Given the description of an element on the screen output the (x, y) to click on. 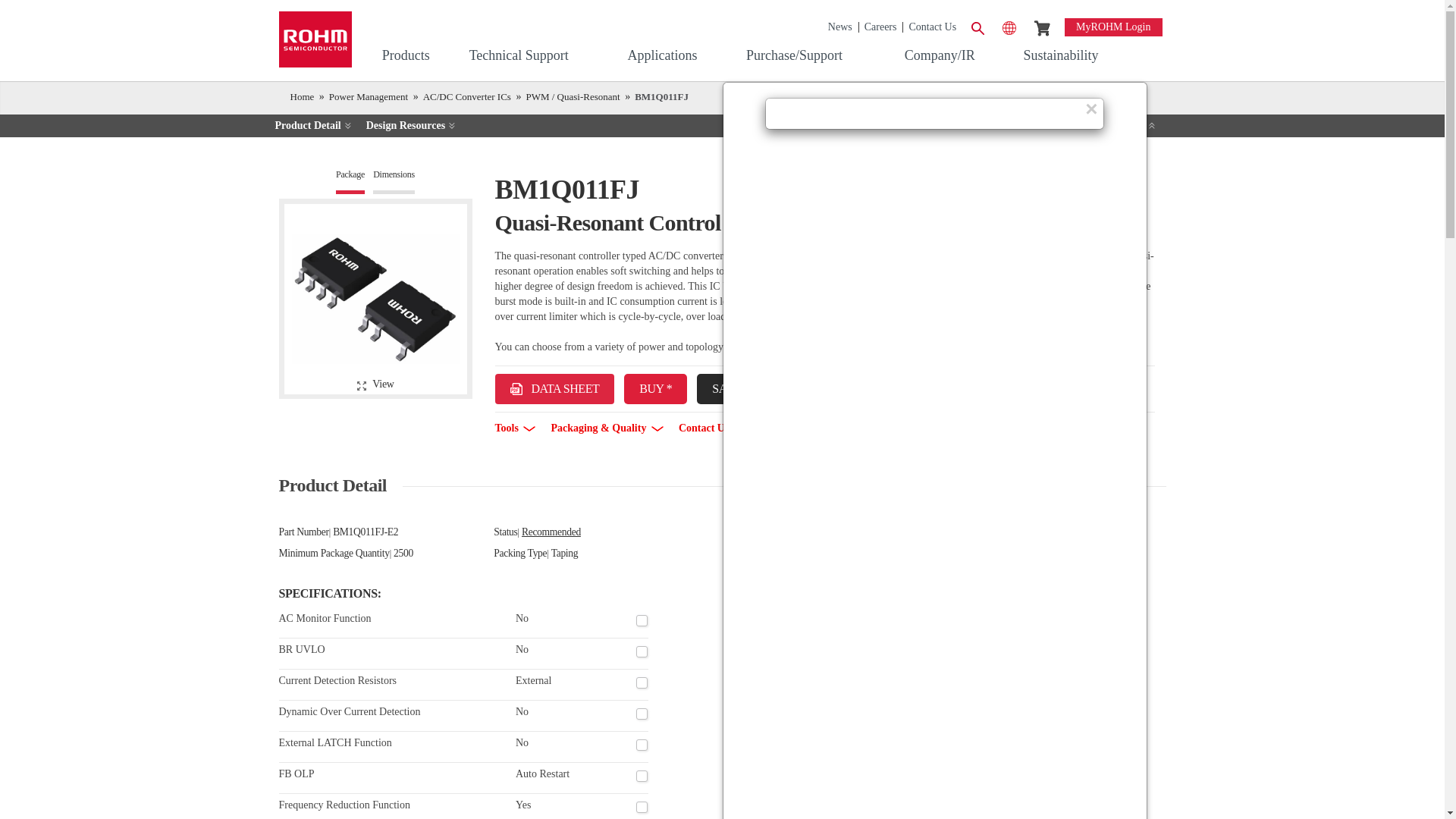
MyROHM Login (1112, 27)
ROHM (315, 38)
Datasheet Download (554, 388)
Contact Us (929, 26)
Careers (877, 26)
News (836, 26)
